Given the description of an element on the screen output the (x, y) to click on. 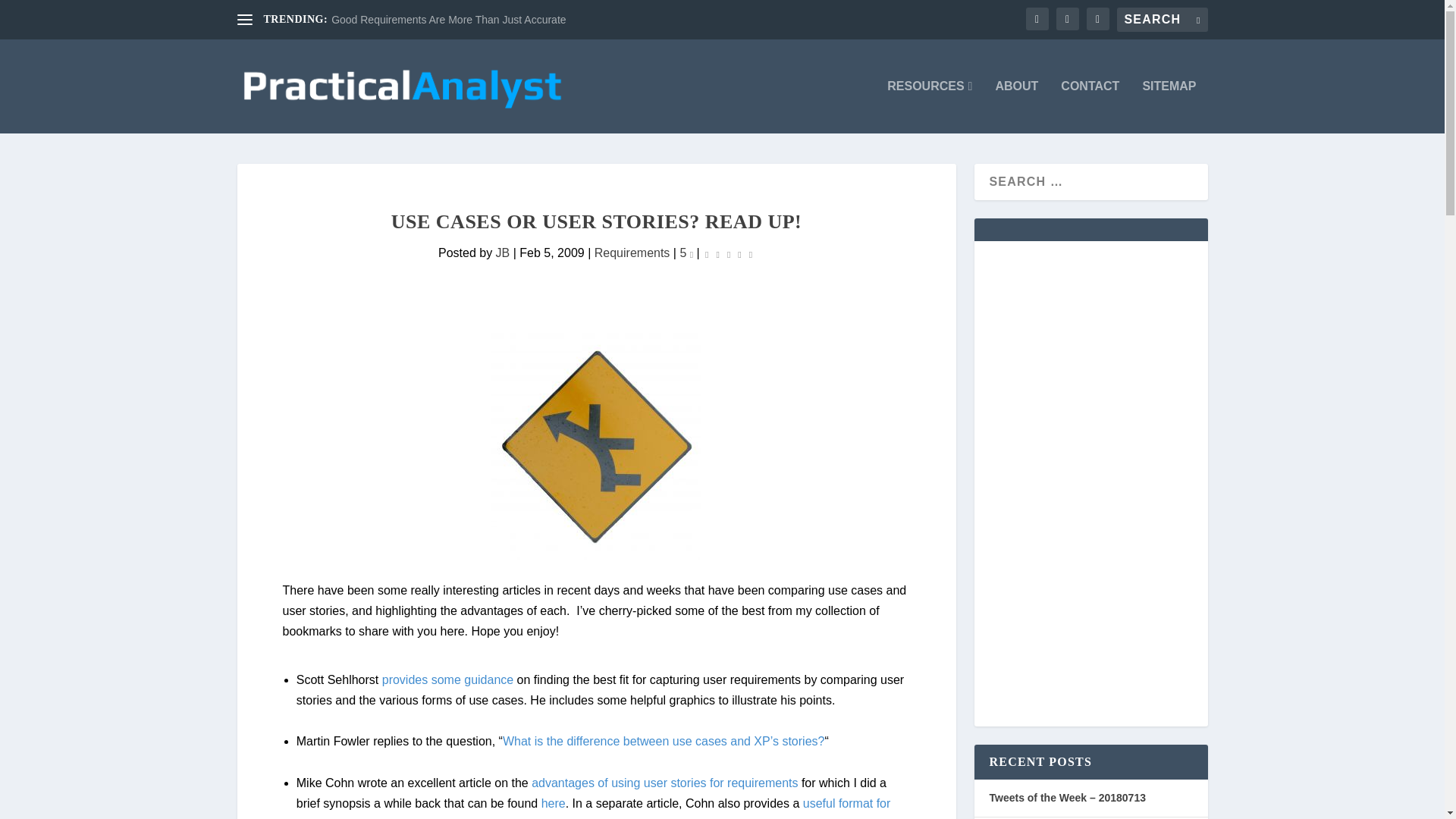
useful format for capturing user stories (594, 807)
5 (686, 252)
comment count (691, 254)
Rating: 0.00 (728, 253)
Search for: (1161, 19)
ABOUT (1016, 106)
RESOURCES (929, 106)
Options (596, 446)
provides some guidance (447, 679)
here (553, 802)
Good Requirements Are More Than Just Accurate (448, 19)
CONTACT (1090, 106)
Requirements (631, 252)
JB (503, 252)
SITEMAP (1168, 106)
